Given the description of an element on the screen output the (x, y) to click on. 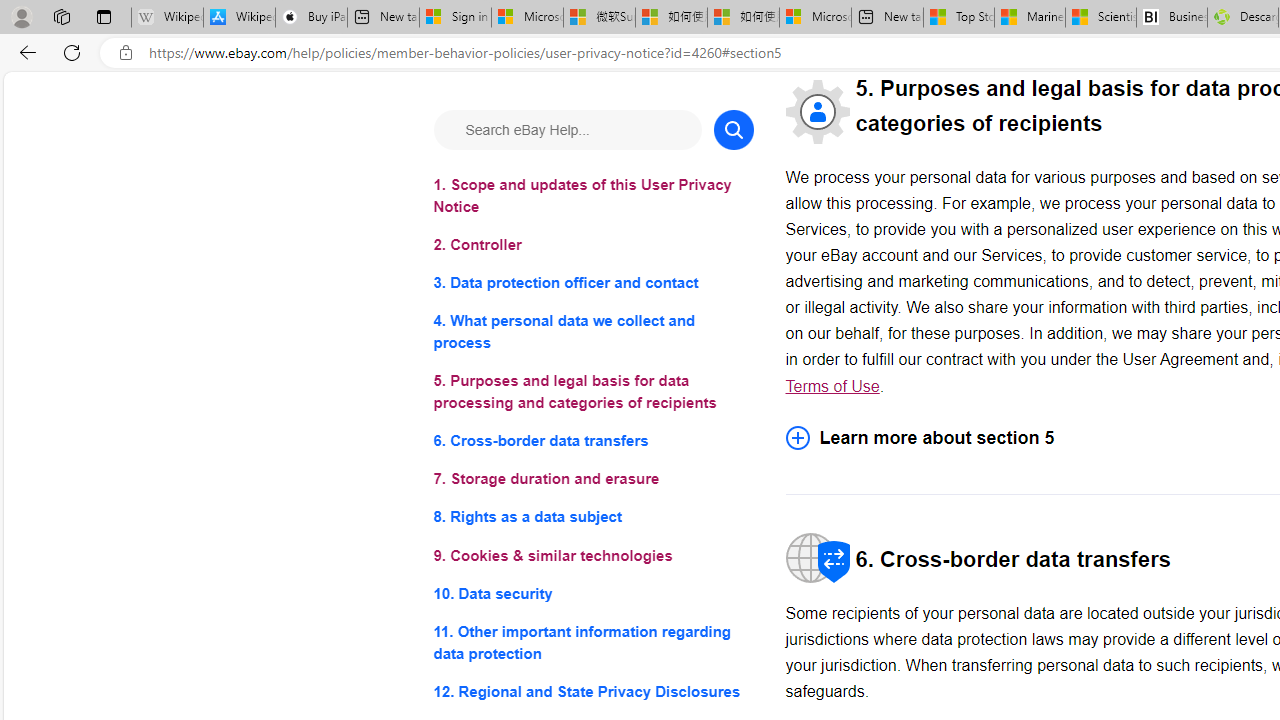
6. Cross-border data transfers (592, 440)
3. Data protection officer and contact (592, 283)
8. Rights as a data subject (592, 517)
8. Rights as a data subject (592, 517)
11. Other important information regarding data protection (592, 642)
1. Scope and updates of this User Privacy Notice (592, 196)
10. Data security (592, 592)
Search eBay Help... (566, 129)
4. What personal data we collect and process (592, 332)
4. What personal data we collect and process (592, 332)
